Given the description of an element on the screen output the (x, y) to click on. 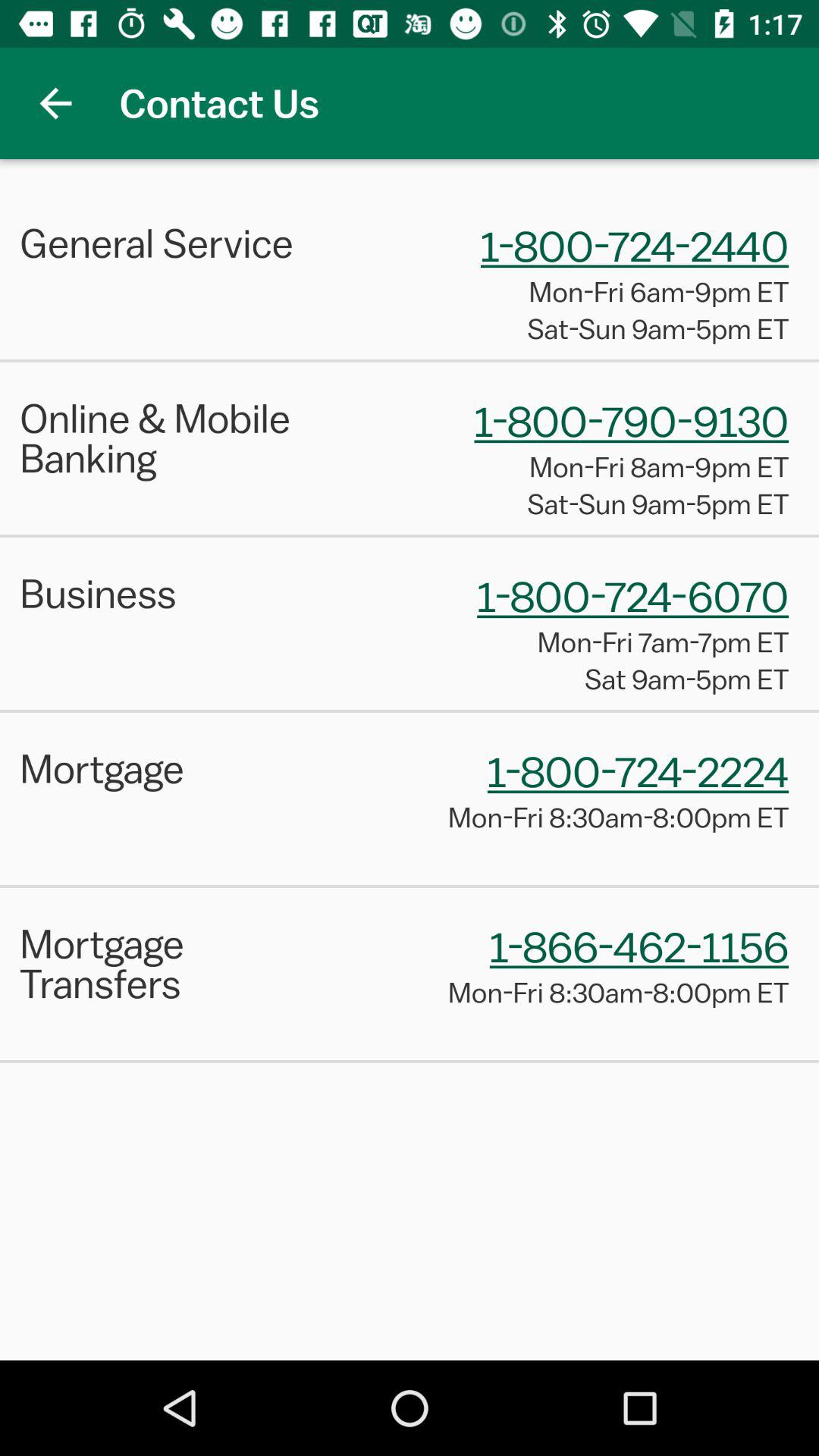
choose item to the left of the 1 800 724 icon (179, 242)
